Given the description of an element on the screen output the (x, y) to click on. 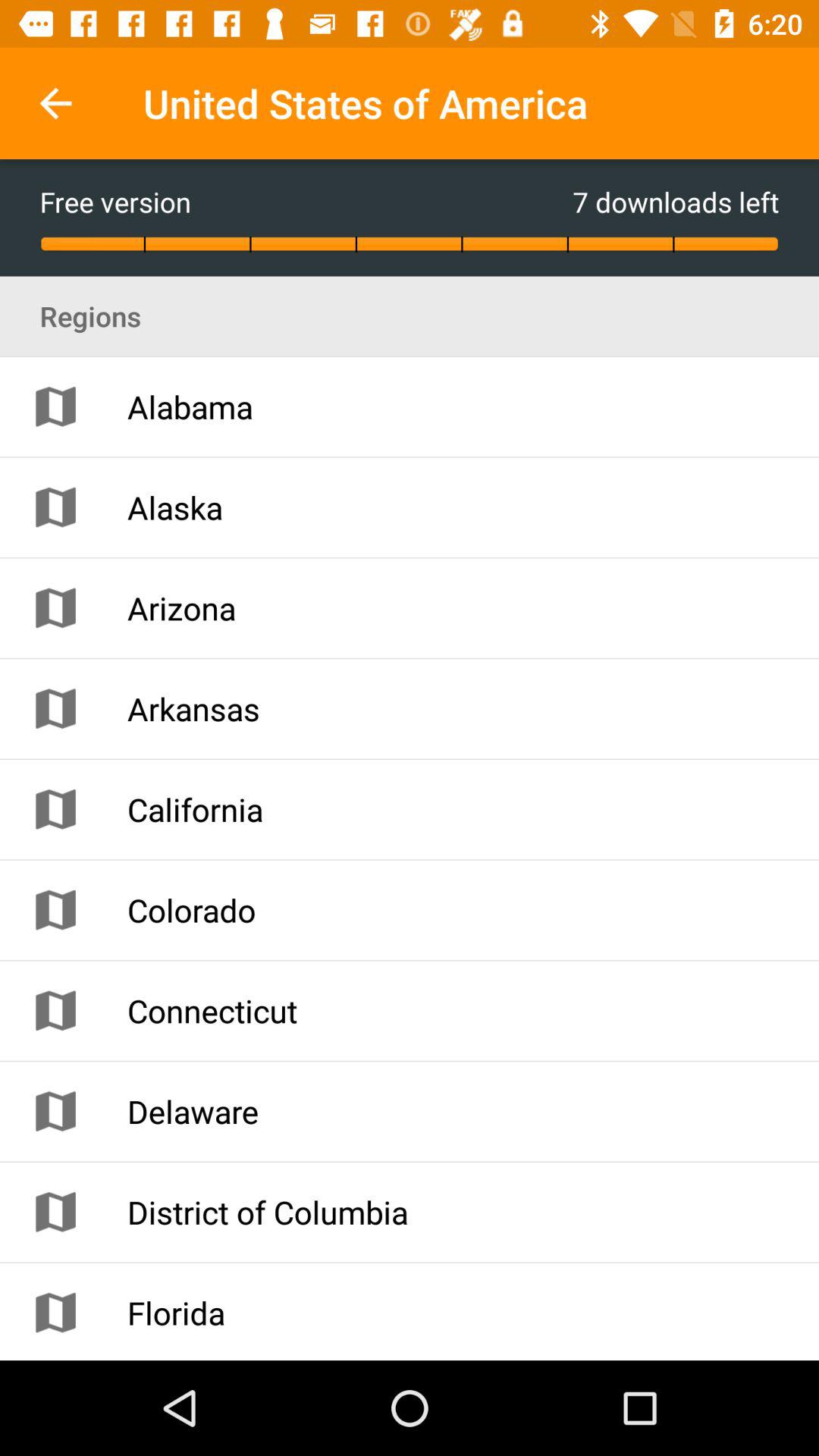
press icon to the left of united states of icon (55, 103)
